Given the description of an element on the screen output the (x, y) to click on. 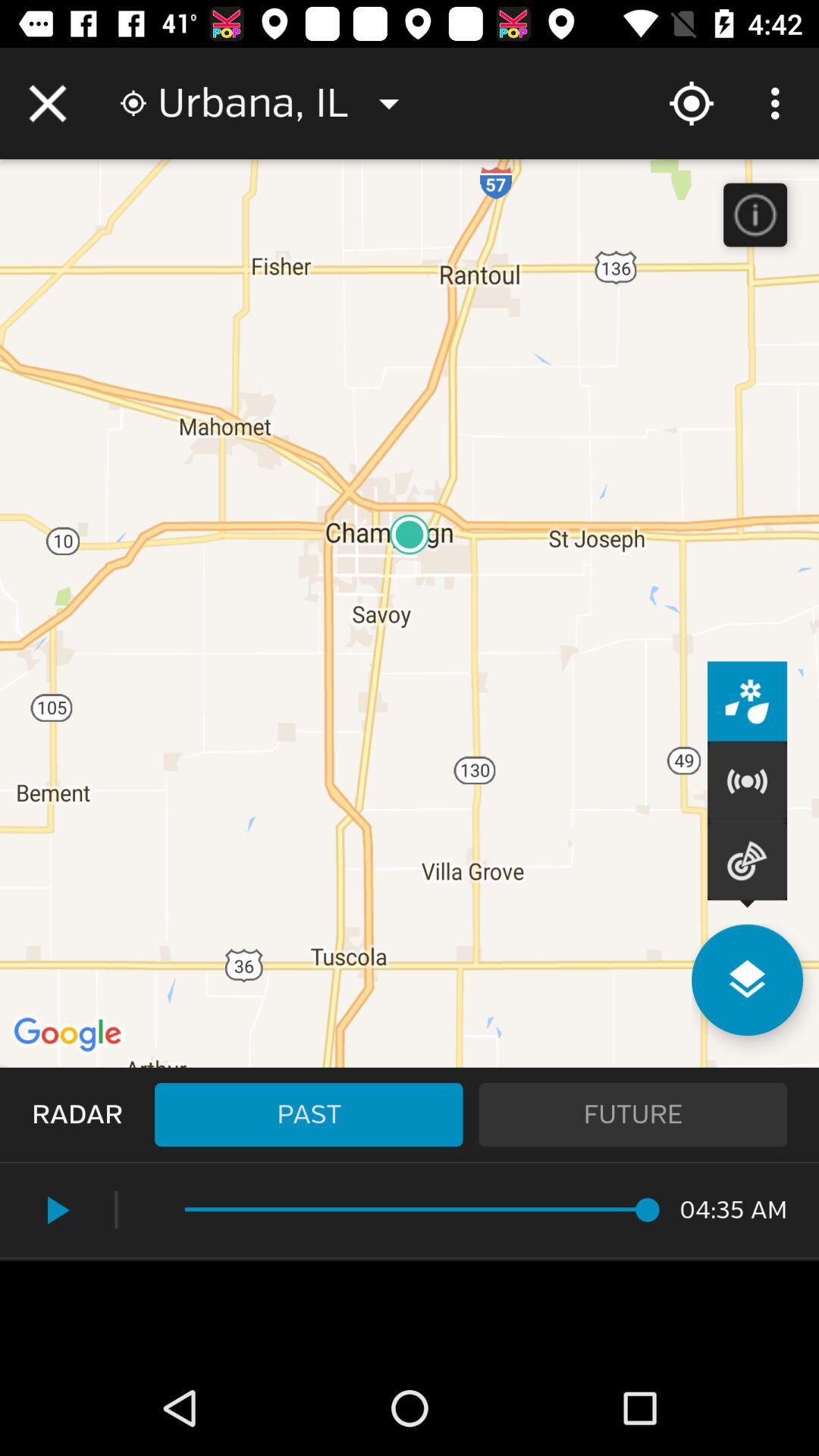
launch item next to the radar icon (308, 1114)
